Given the description of an element on the screen output the (x, y) to click on. 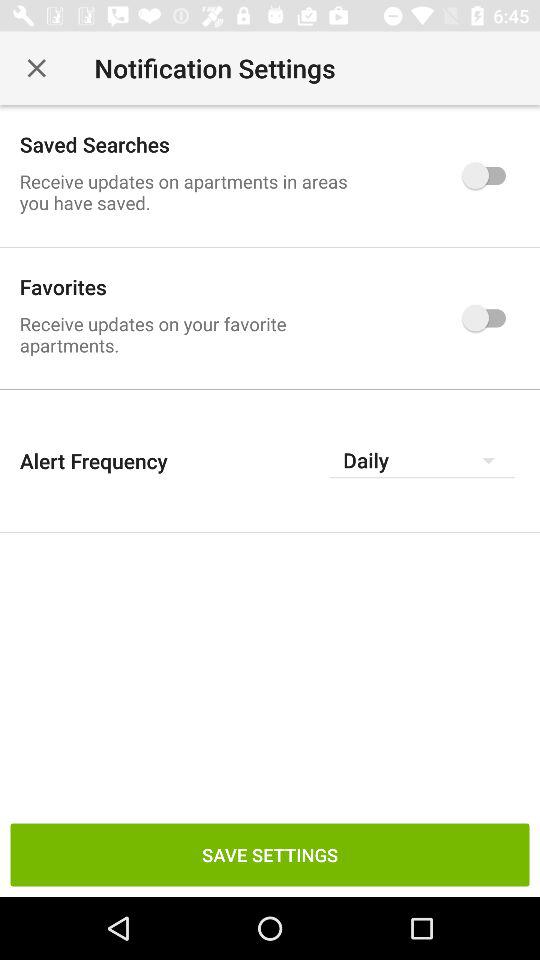
select the item next to notification settings item (36, 68)
